Given the description of an element on the screen output the (x, y) to click on. 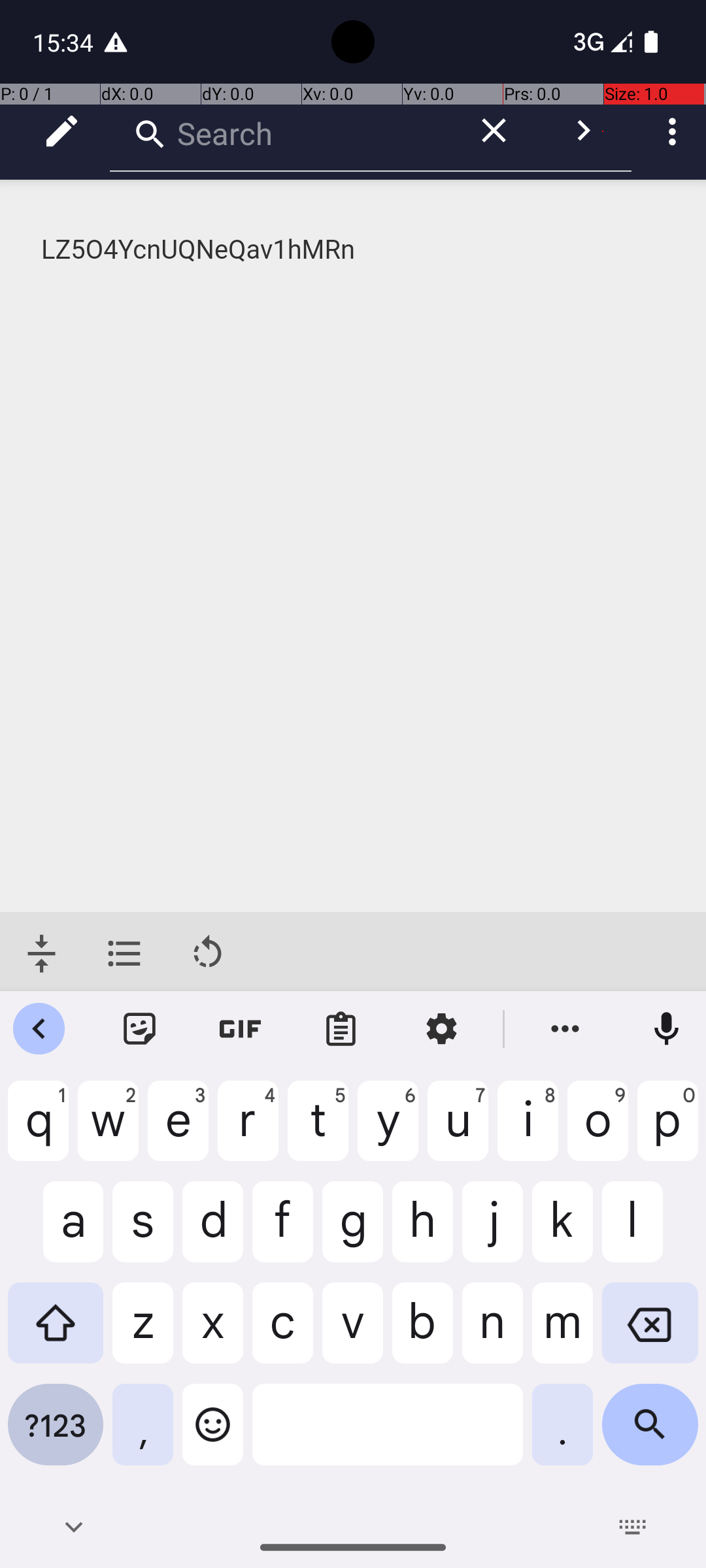
Edit mode Element type: android.widget.TextView (61, 131)
   Search Element type: android.widget.AutoCompleteTextView (280, 130)
Clear query Element type: android.widget.ImageView (493, 130)
Submit query Element type: android.widget.ImageView (583, 130)
Jump to bottom Element type: android.widget.ImageView (41, 953)
Table of contents Element type: android.widget.ImageView (124, 953)
Rotate Element type: android.widget.ImageView (207, 953)
LZ5O4YcnUQNeQav1hMRn Element type: android.widget.TextView (354, 249)
